Given the description of an element on the screen output the (x, y) to click on. 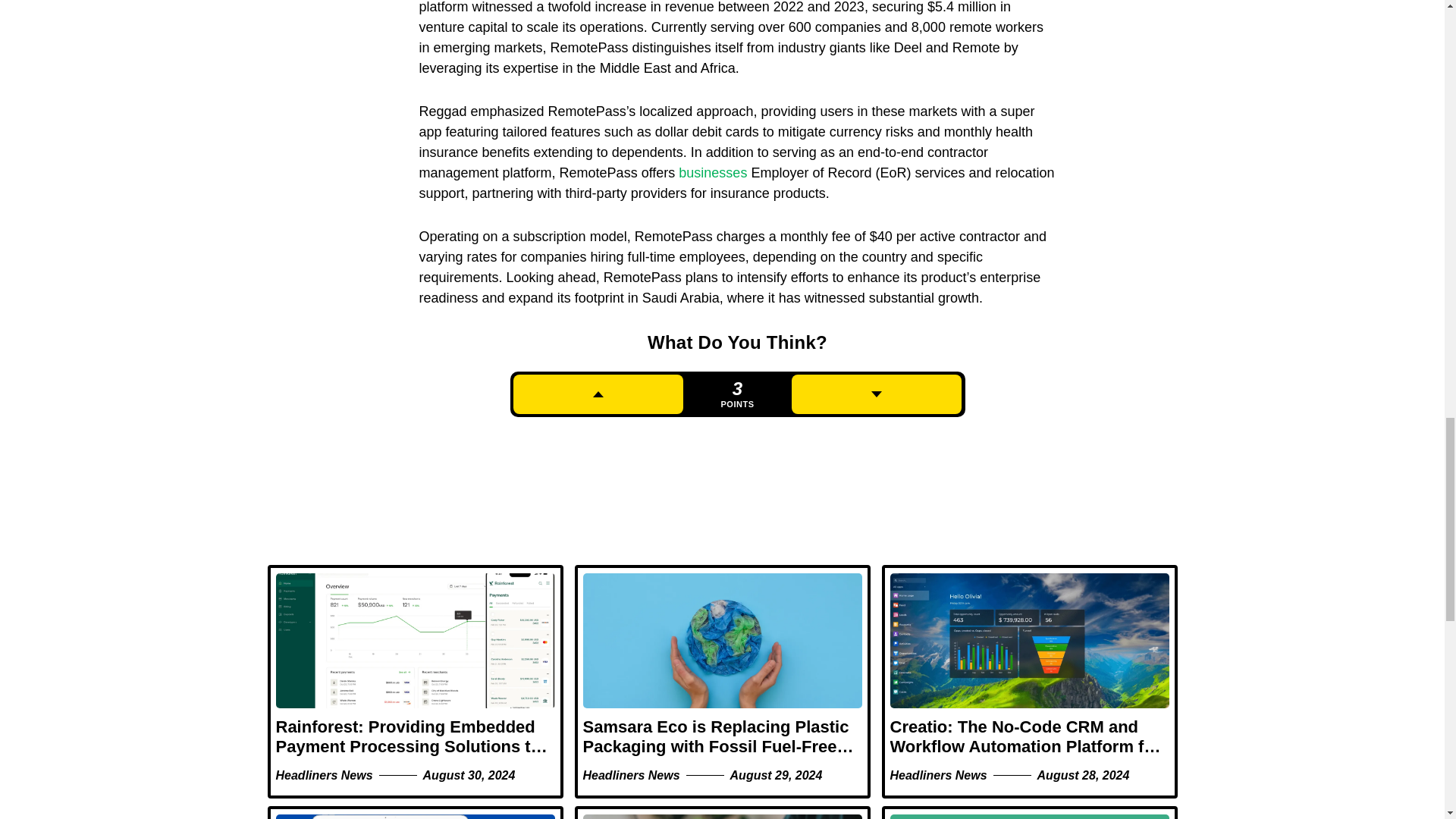
businesses (712, 172)
